Given the description of an element on the screen output the (x, y) to click on. 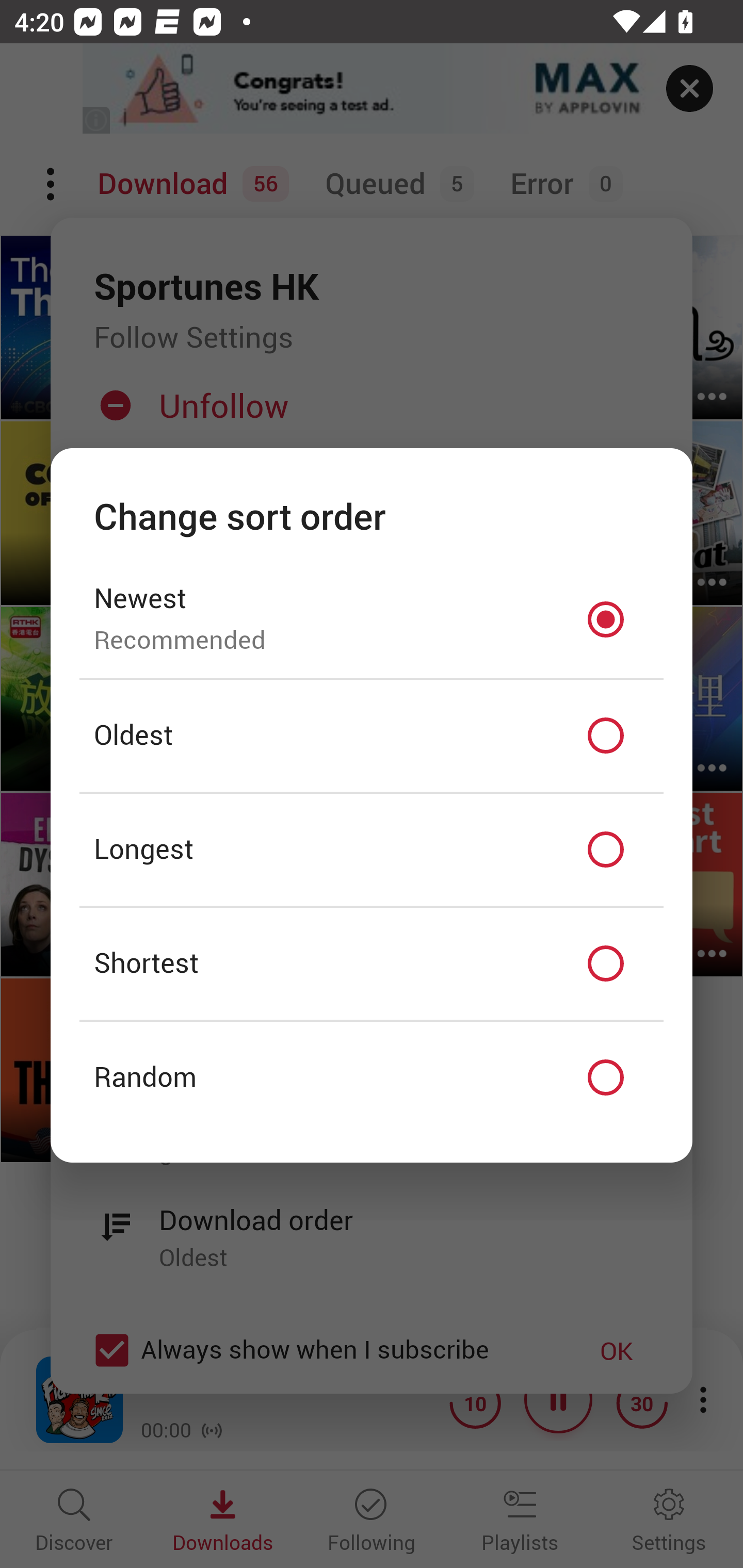
Newest Recommended (371, 619)
Oldest (371, 735)
Longest (371, 849)
Shortest (371, 963)
Random (371, 1077)
